Given the description of an element on the screen output the (x, y) to click on. 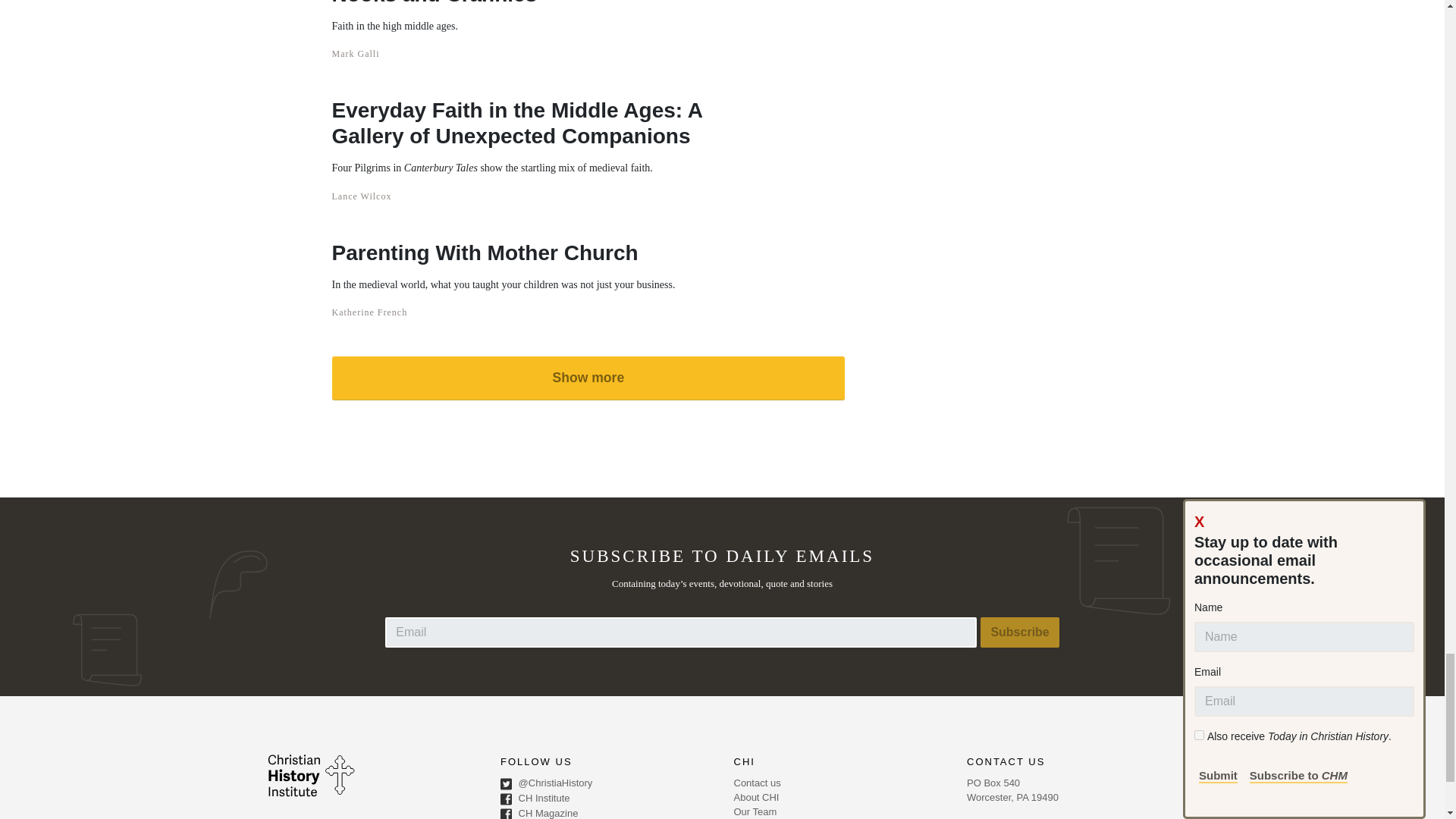
Parenting With Mother Church (503, 252)
CH Magazine (605, 812)
Subscribe (1018, 632)
CH Institute (605, 798)
Show more (588, 377)
